Given the description of an element on the screen output the (x, y) to click on. 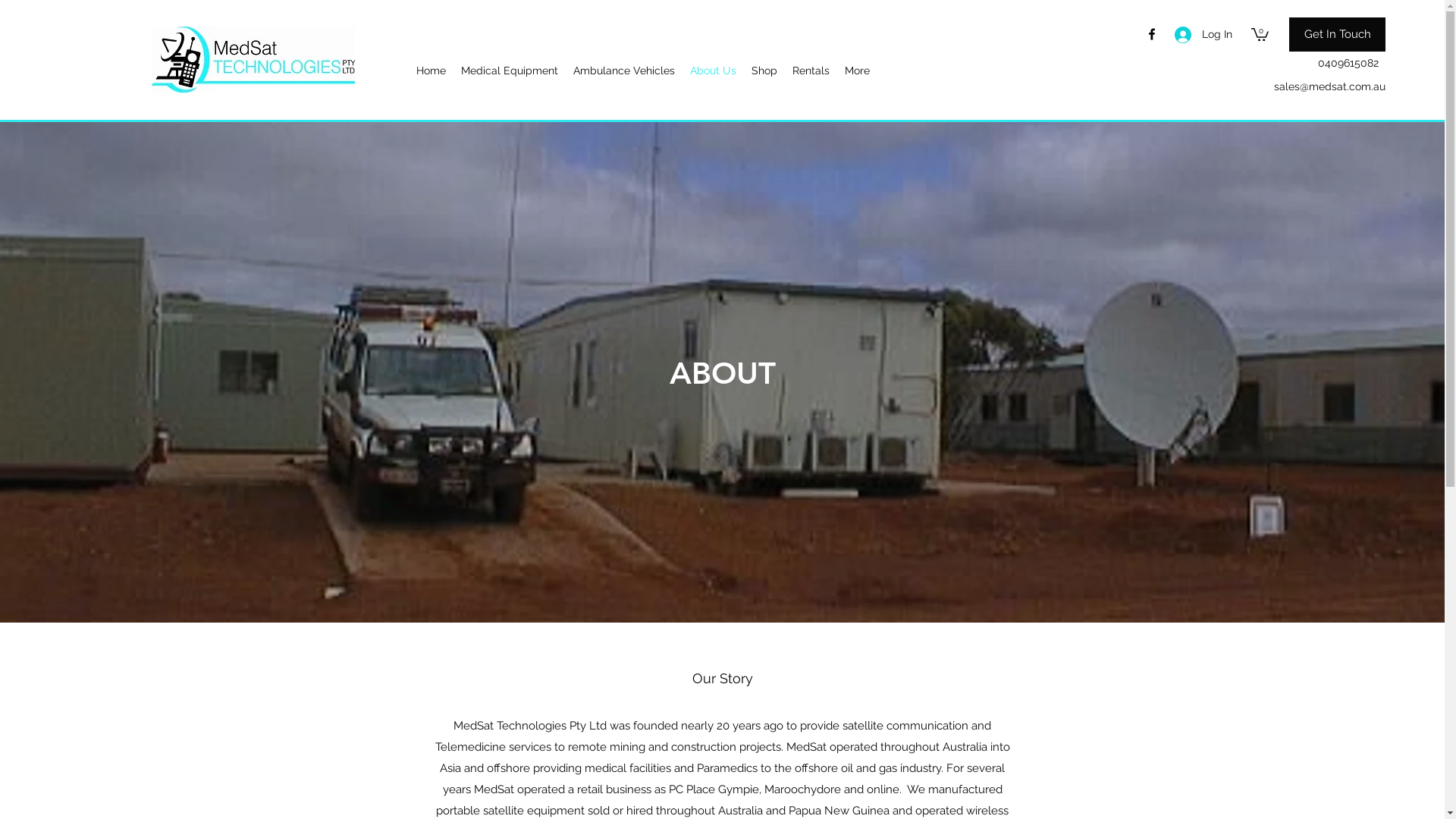
Ambulance Vehicles Element type: text (623, 70)
Rentals Element type: text (810, 70)
About Us Element type: text (712, 70)
0 Element type: text (1259, 33)
Shop Element type: text (763, 70)
Home Element type: text (430, 70)
sales@medsat.com.au Element type: text (1329, 86)
Medical Equipment Element type: text (509, 70)
Get In Touch Element type: text (1337, 34)
Log In Element type: text (1198, 34)
